Given the description of an element on the screen output the (x, y) to click on. 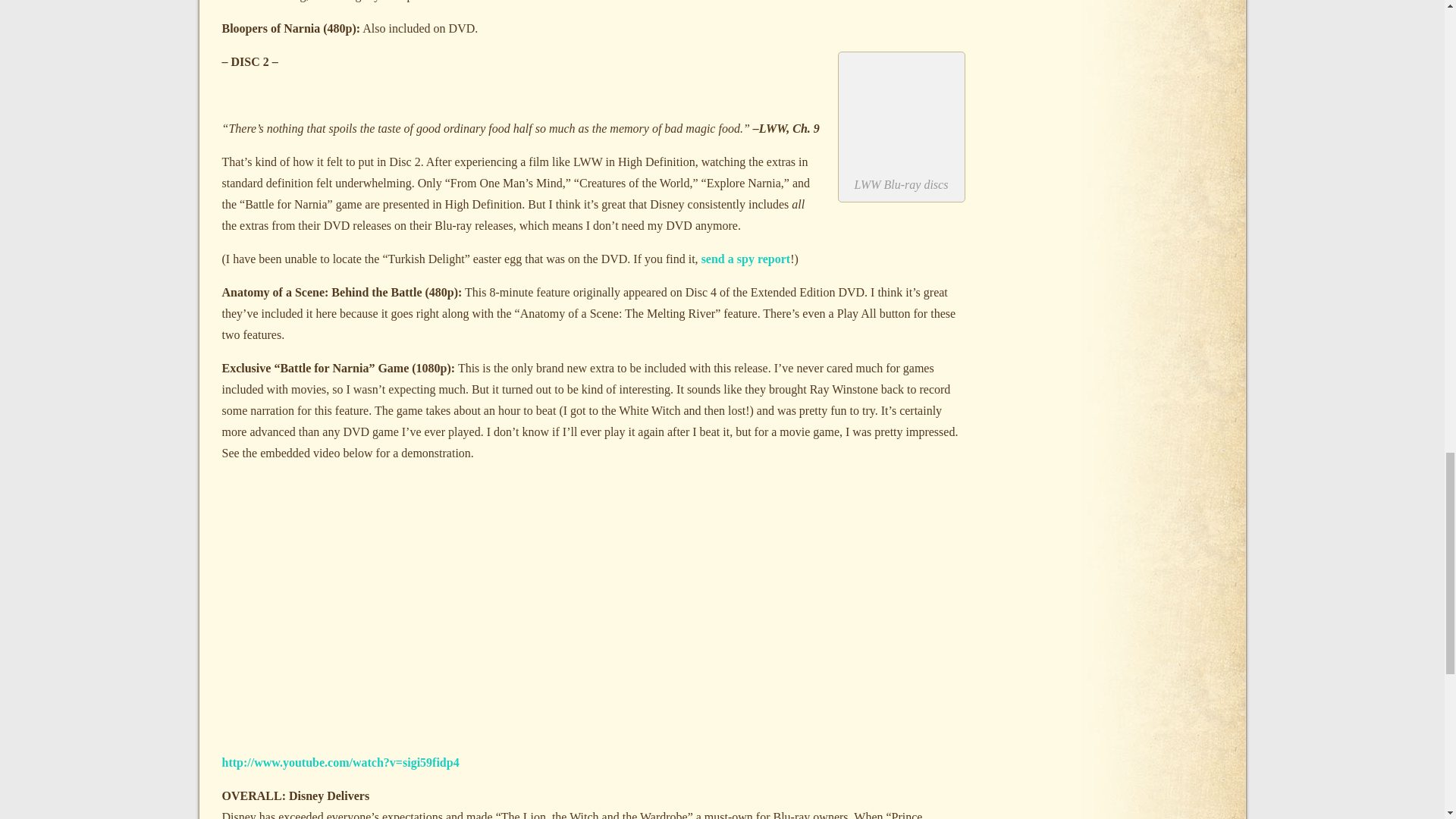
LWW Blu-ray discs (900, 112)
